Given the description of an element on the screen output the (x, y) to click on. 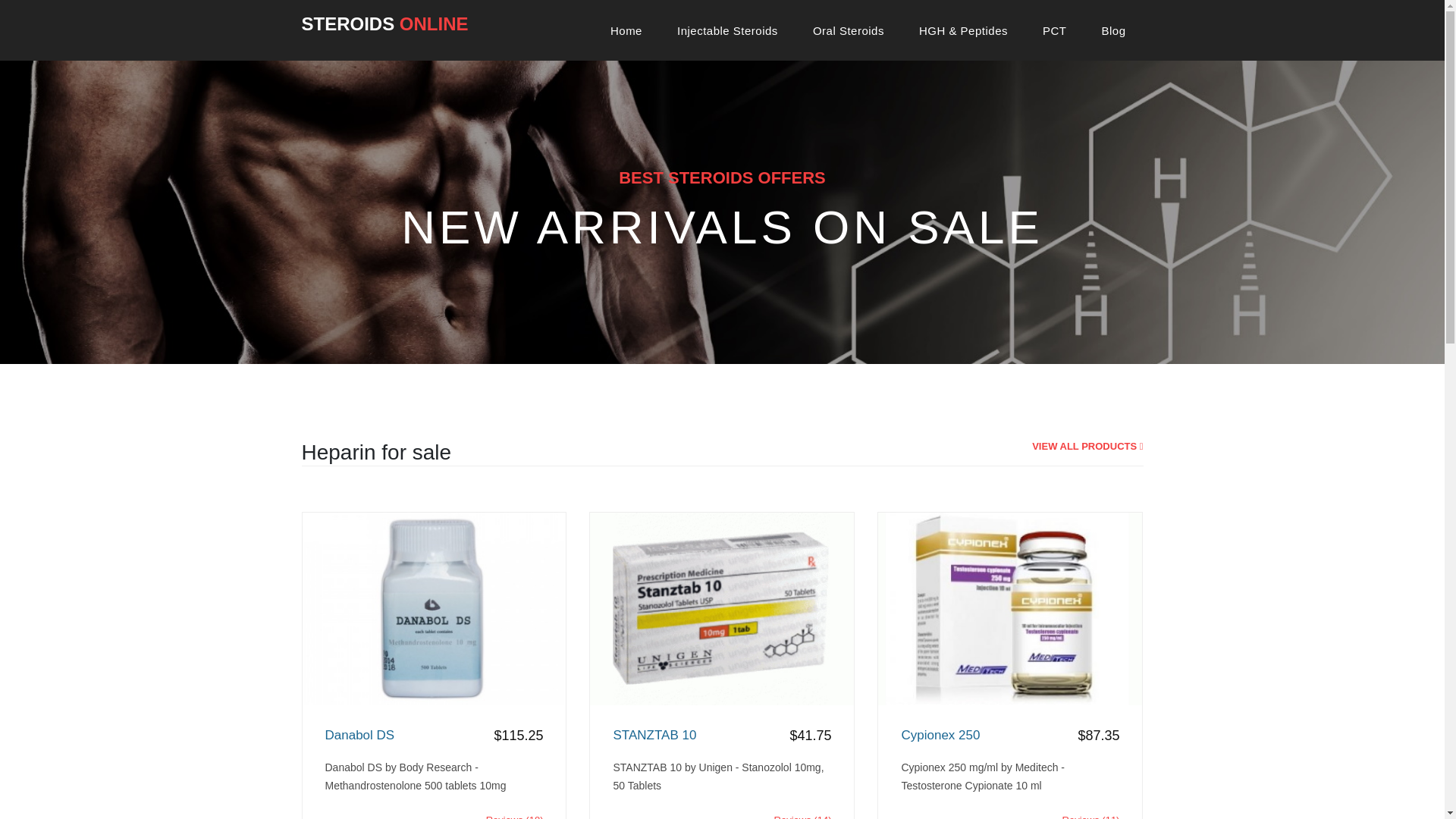
Cypionex 250 (1010, 735)
Oral Steroids (847, 30)
STANZTAB 10 (721, 735)
Home (625, 30)
Danabol DS (433, 735)
Blog (1112, 30)
PCT (1054, 30)
Injectable Steroids (727, 30)
STEROIDS ONLINE (384, 24)
VIEW ALL PRODUCTS (1087, 446)
